Given the description of an element on the screen output the (x, y) to click on. 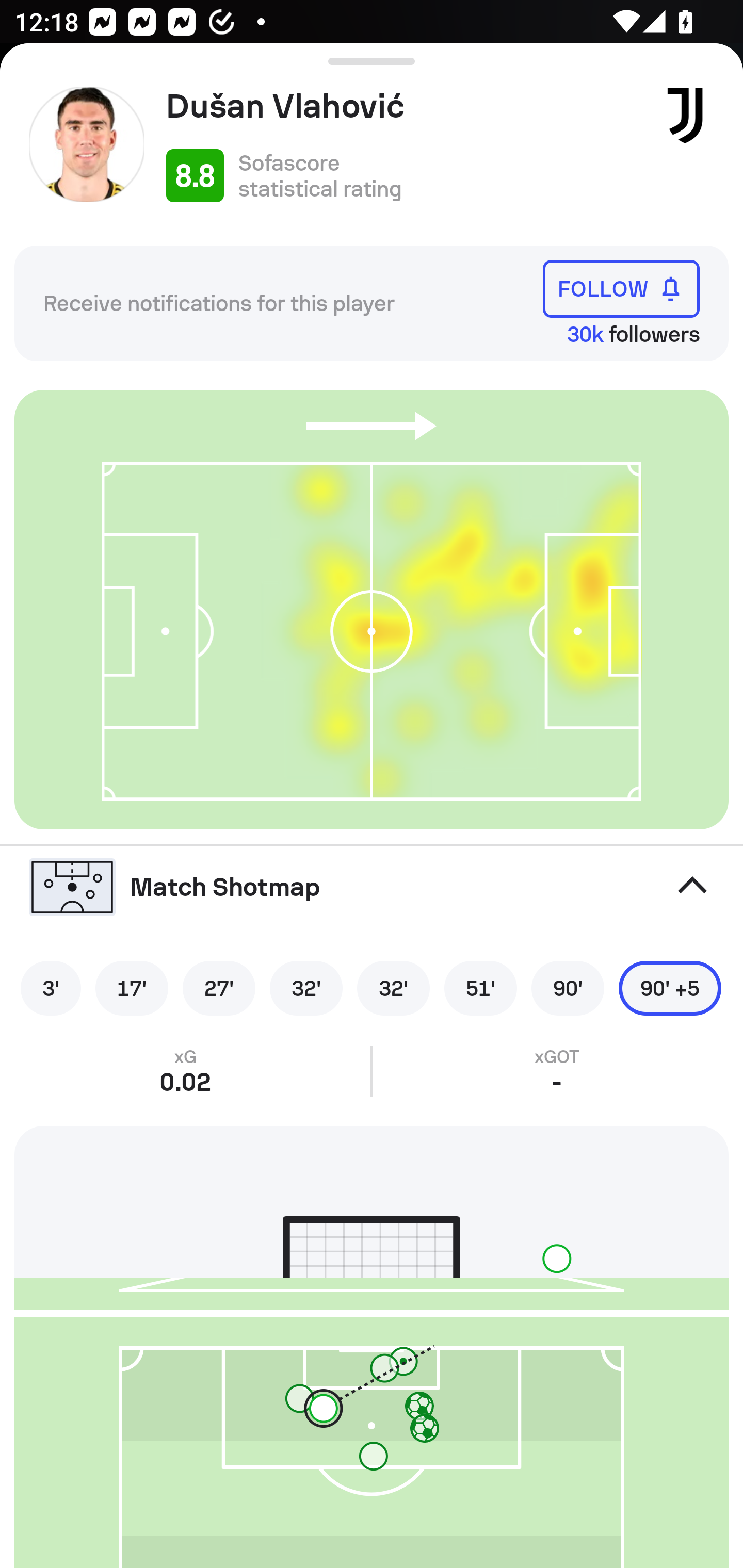
Dušan Vlahović (403, 105)
FOLLOW (621, 289)
Match Shotmap (371, 886)
3' (50, 988)
17' (131, 988)
27' (218, 988)
32' (305, 988)
32' (392, 988)
51' (480, 988)
90' (567, 988)
90' +5 (669, 988)
